Given the description of an element on the screen output the (x, y) to click on. 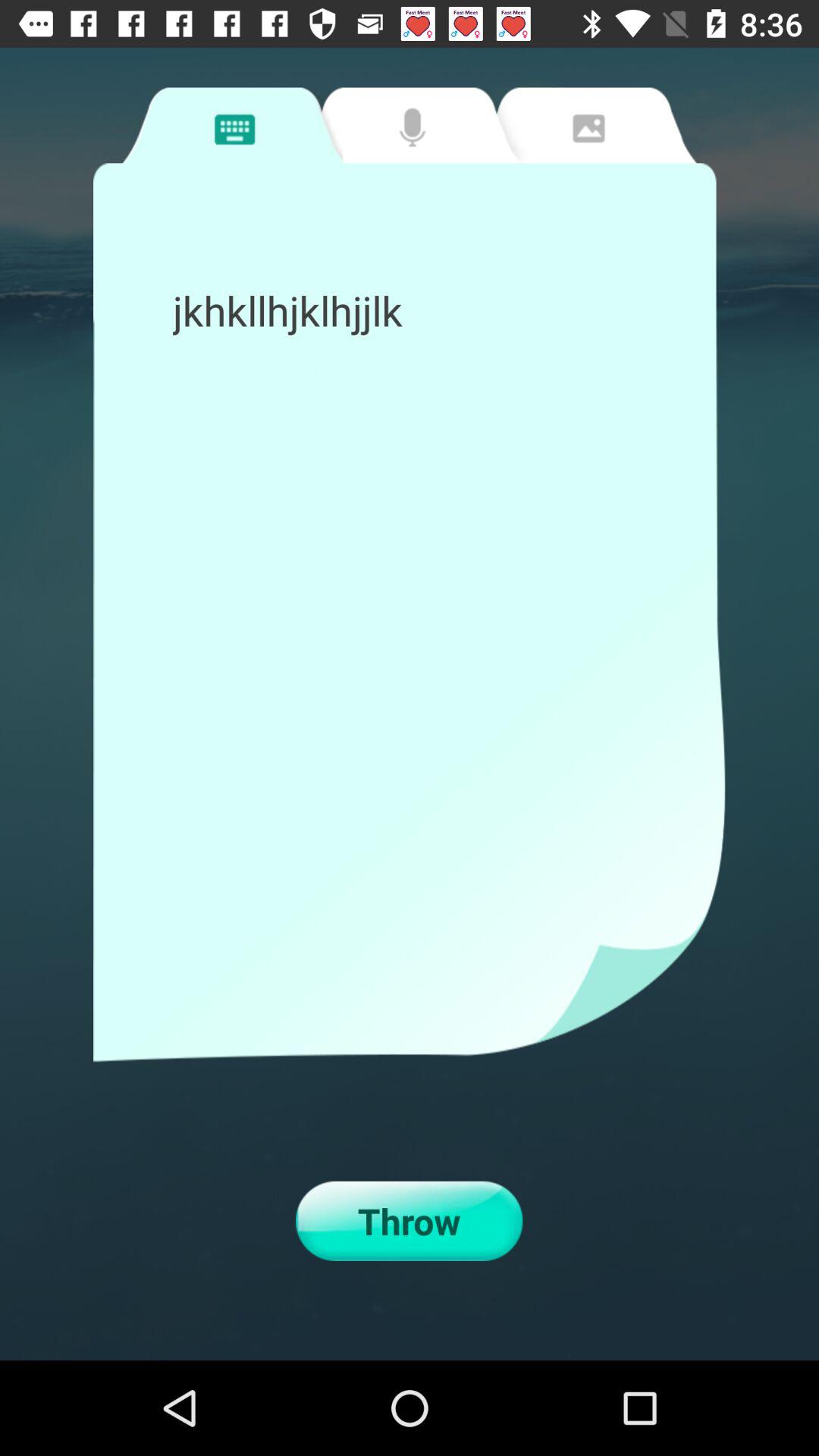
voice dictation (407, 125)
